Given the description of an element on the screen output the (x, y) to click on. 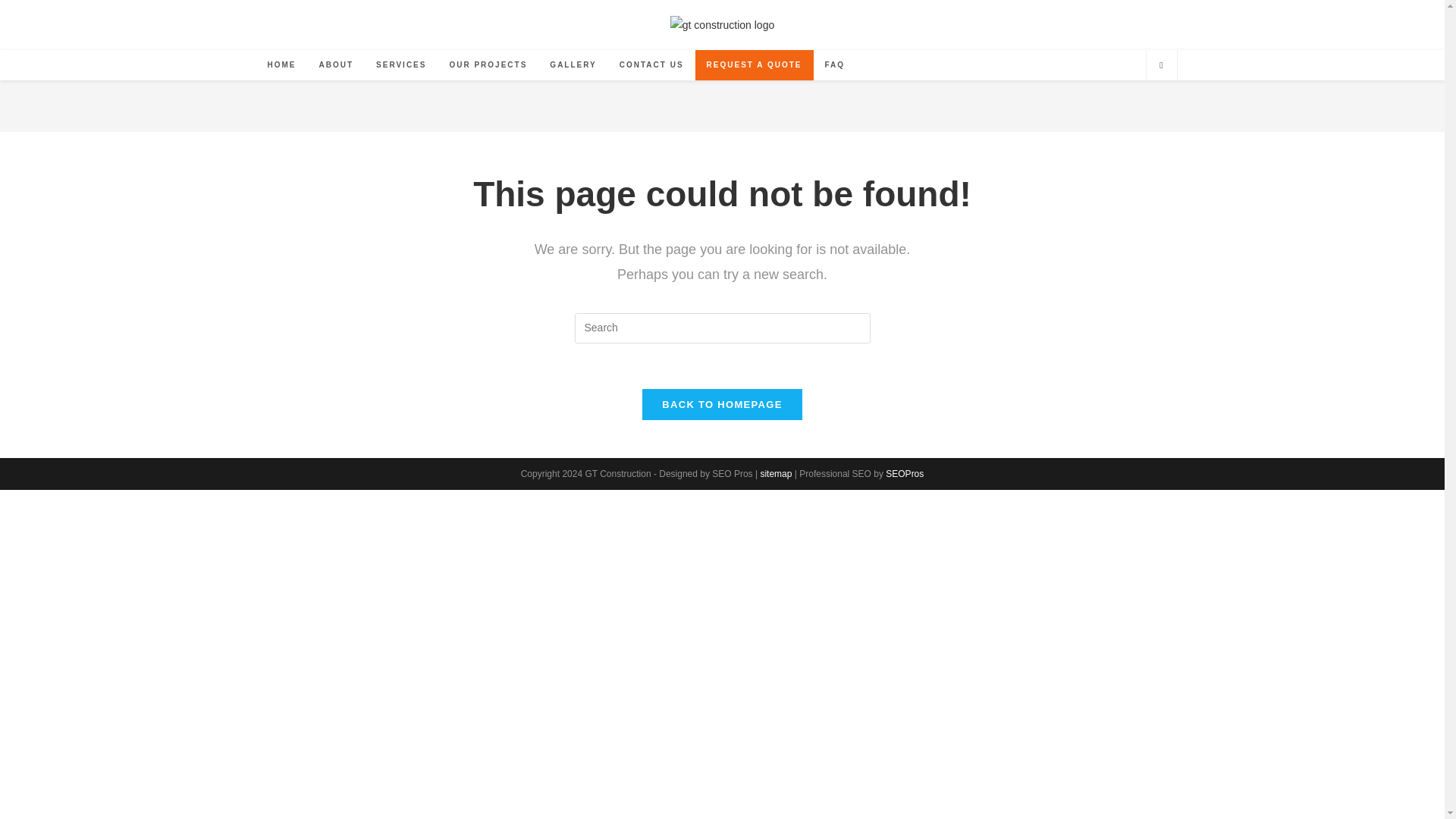
SERVICES (401, 64)
FAQ (835, 64)
HOME (281, 64)
CONTACT US (651, 64)
BACK TO HOMEPAGE (722, 404)
SEOPros (904, 473)
sitemap (776, 473)
ABOUT (336, 64)
OUR PROJECTS (488, 64)
GALLERY (572, 64)
